Given the description of an element on the screen output the (x, y) to click on. 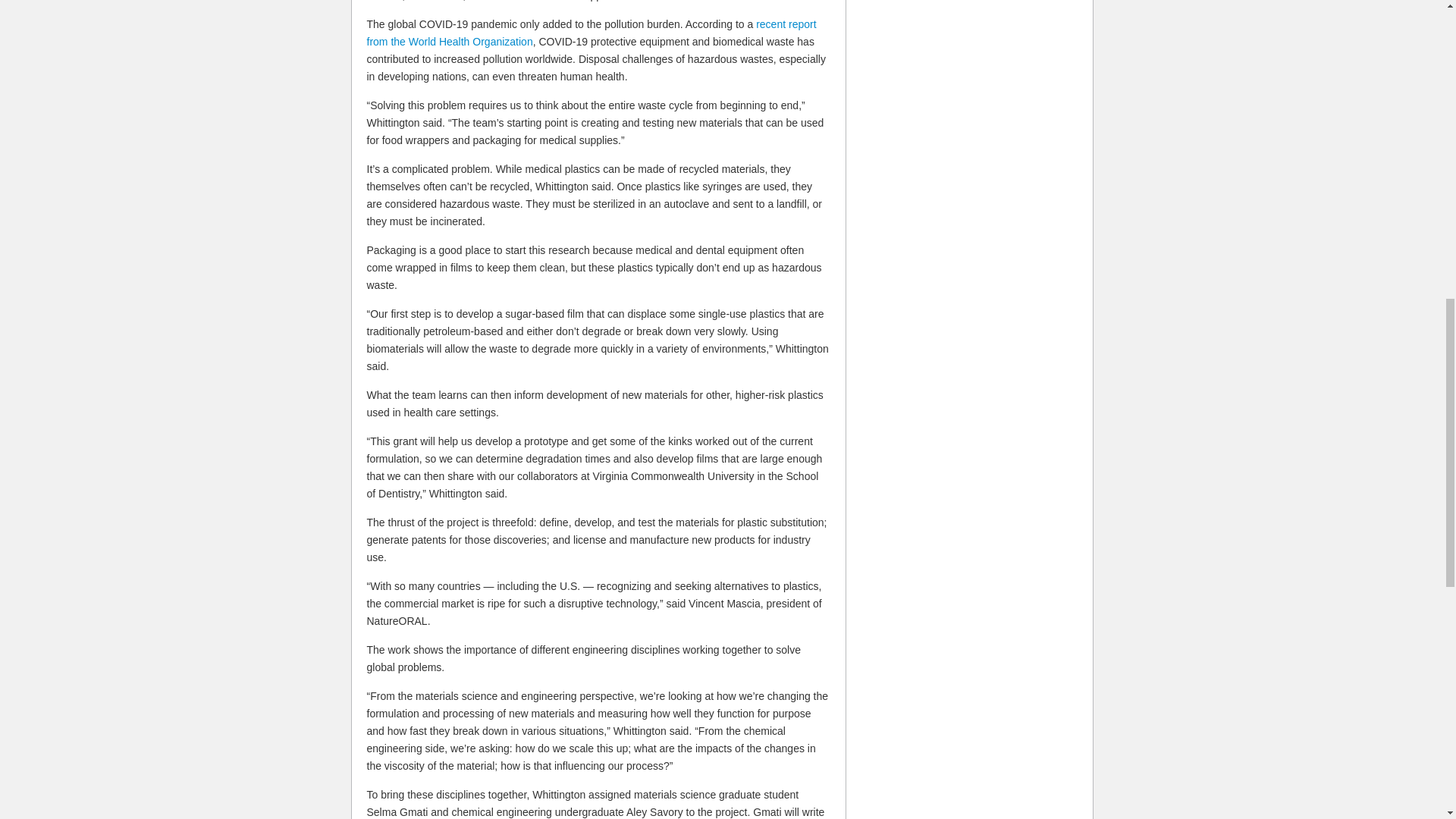
recent report from the World Health Organization (591, 32)
